Given the description of an element on the screen output the (x, y) to click on. 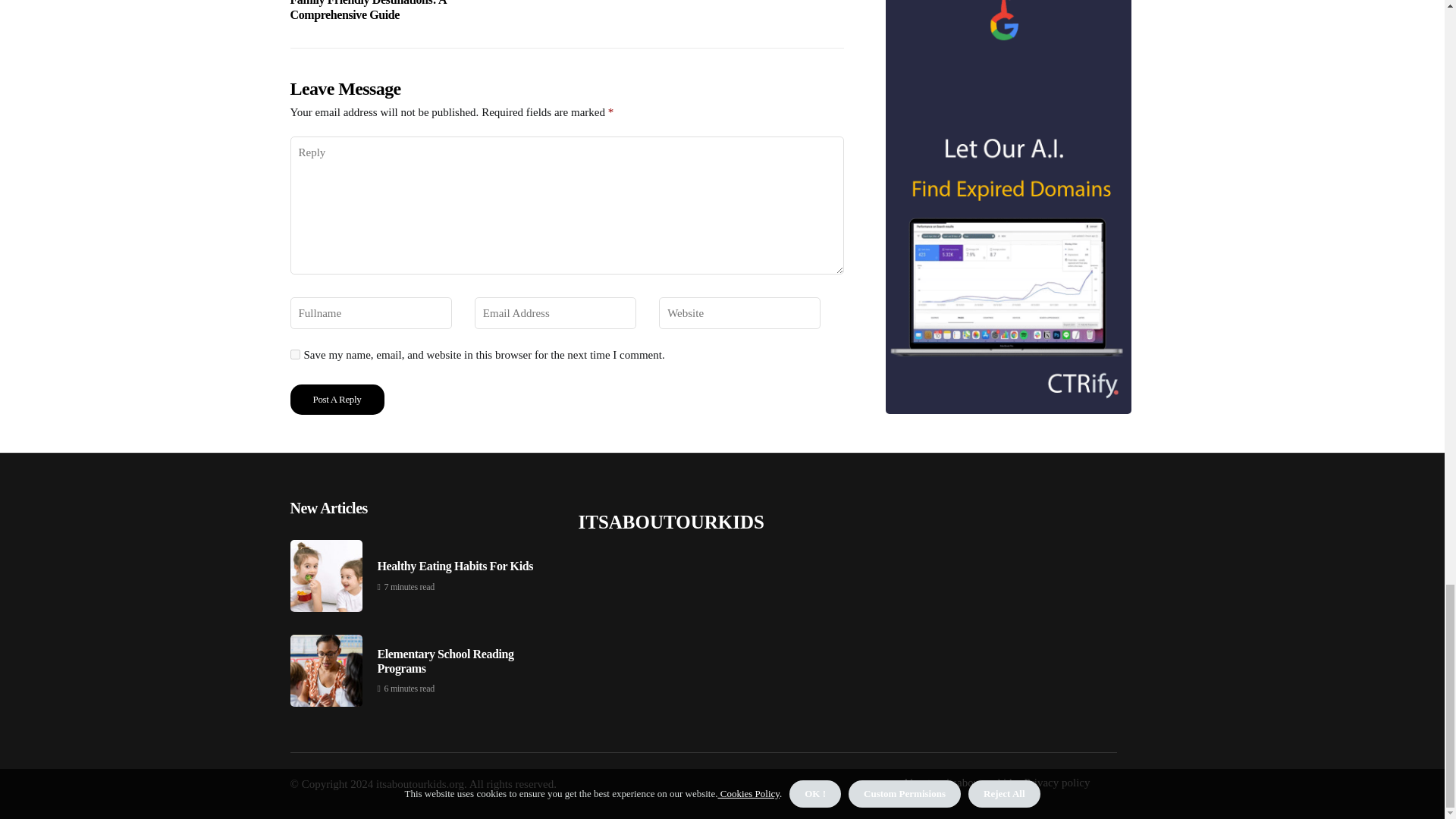
Post a Reply (336, 399)
yes (294, 354)
